Given the description of an element on the screen output the (x, y) to click on. 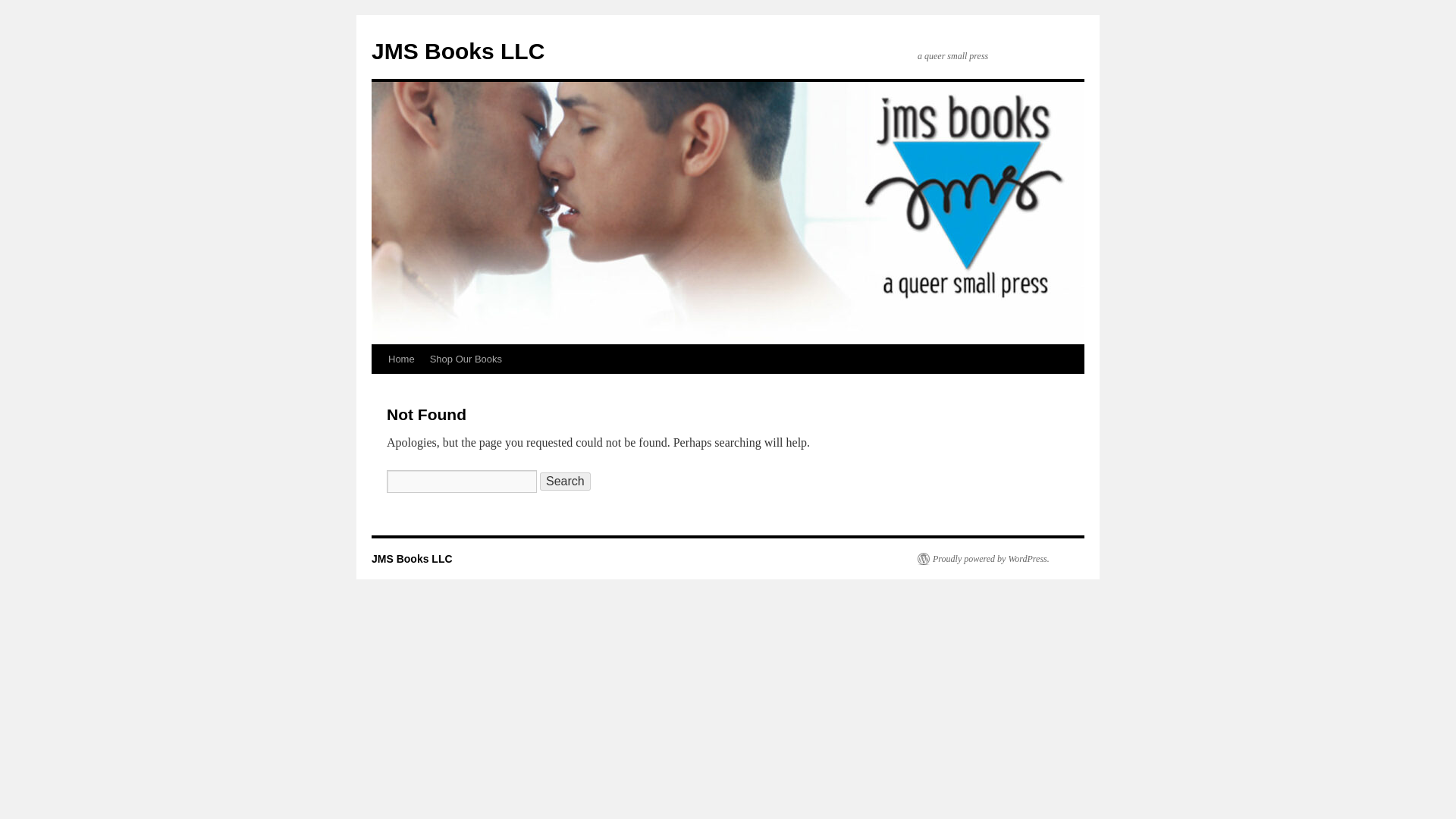
Shop Our Books (465, 358)
JMS Books LLC (457, 50)
Search (565, 481)
Search (565, 481)
Home (401, 358)
